Given the description of an element on the screen output the (x, y) to click on. 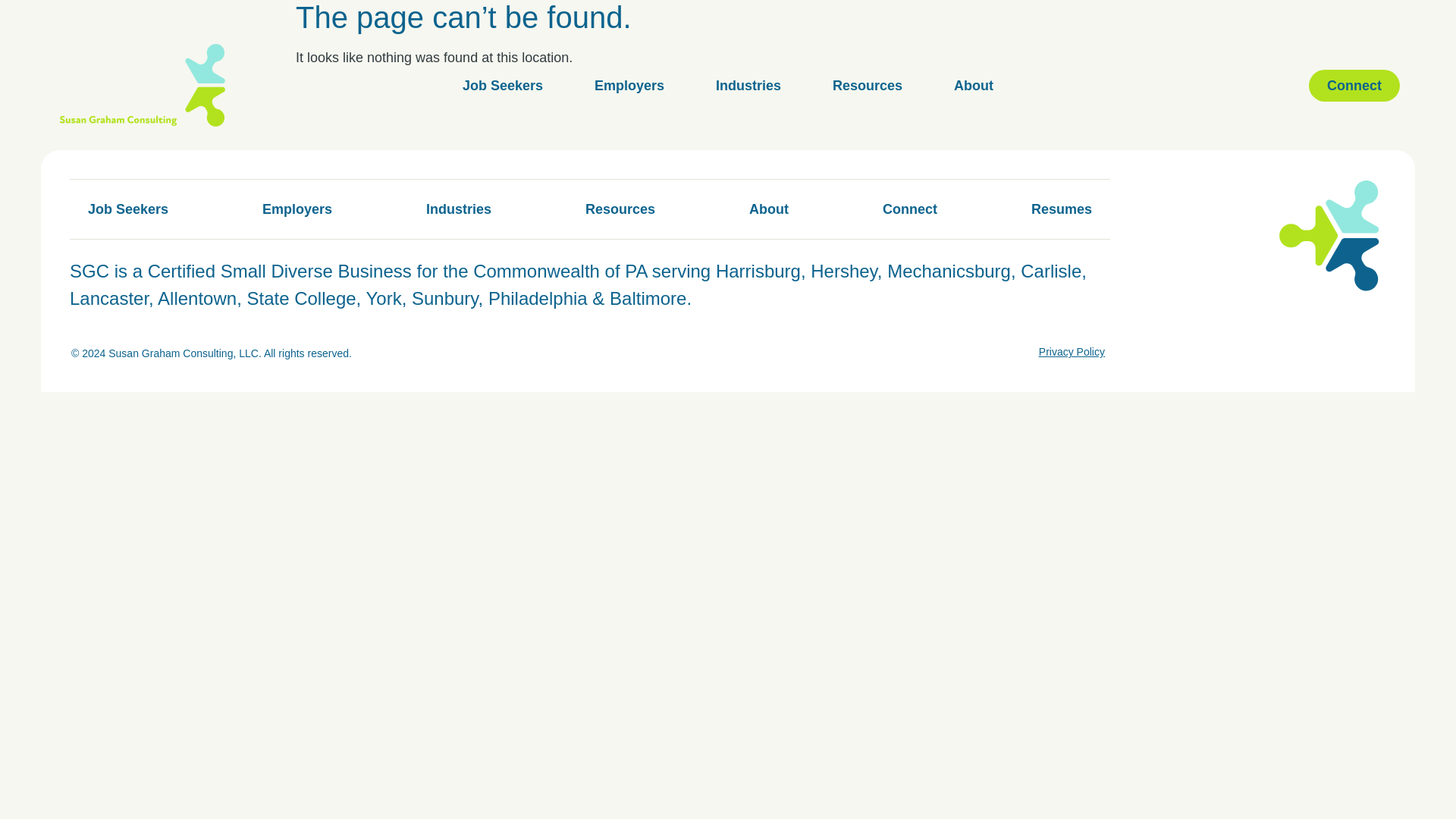
Resources (867, 85)
Resumes (1061, 209)
Job Seekers (127, 209)
Connect (909, 209)
Privacy Policy (1071, 352)
About (973, 85)
Industries (458, 209)
Resources (619, 209)
About (768, 209)
Employers (297, 209)
